Given the description of an element on the screen output the (x, y) to click on. 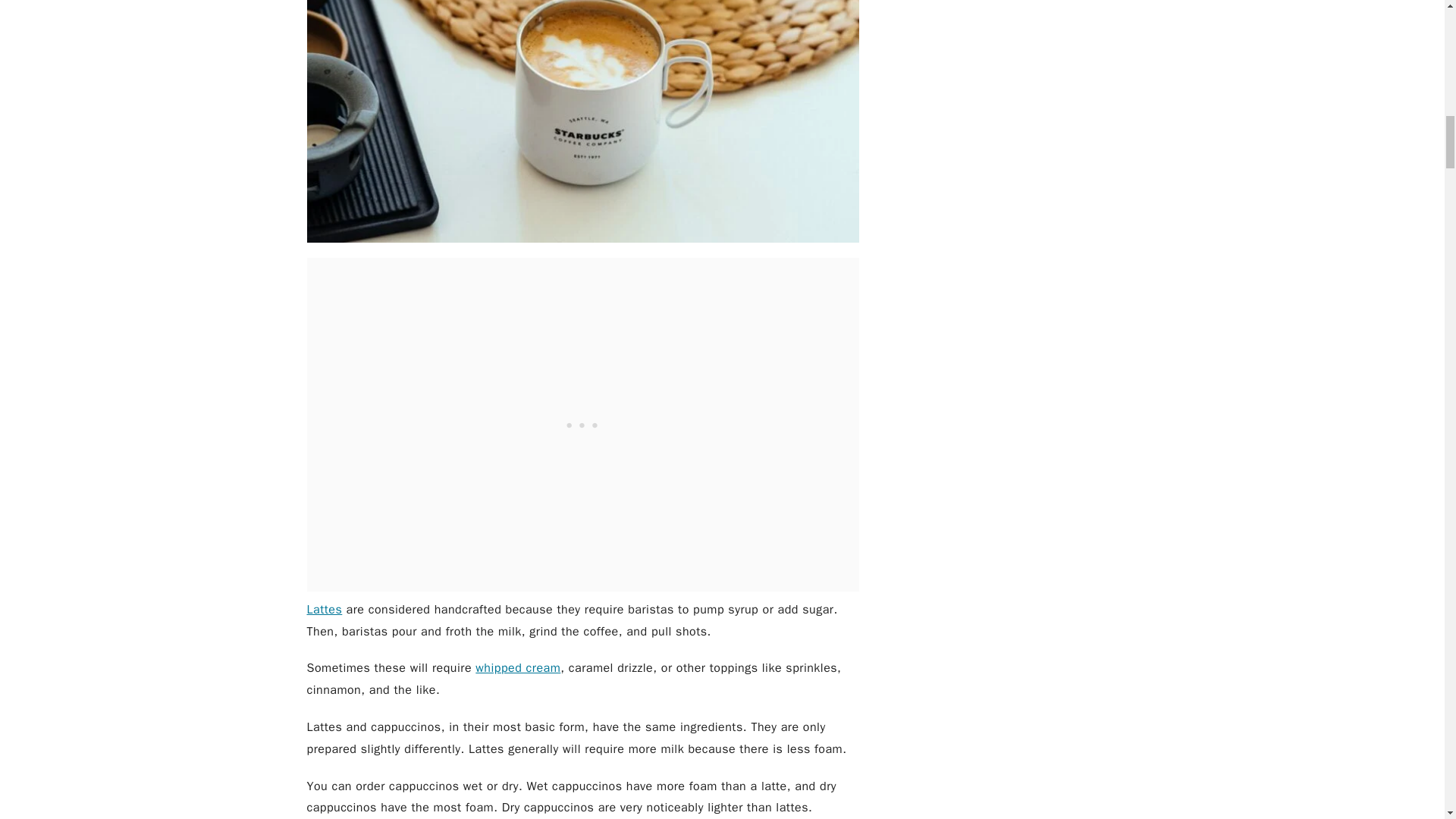
whipped cream (518, 667)
Lattes (323, 609)
